Given the description of an element on the screen output the (x, y) to click on. 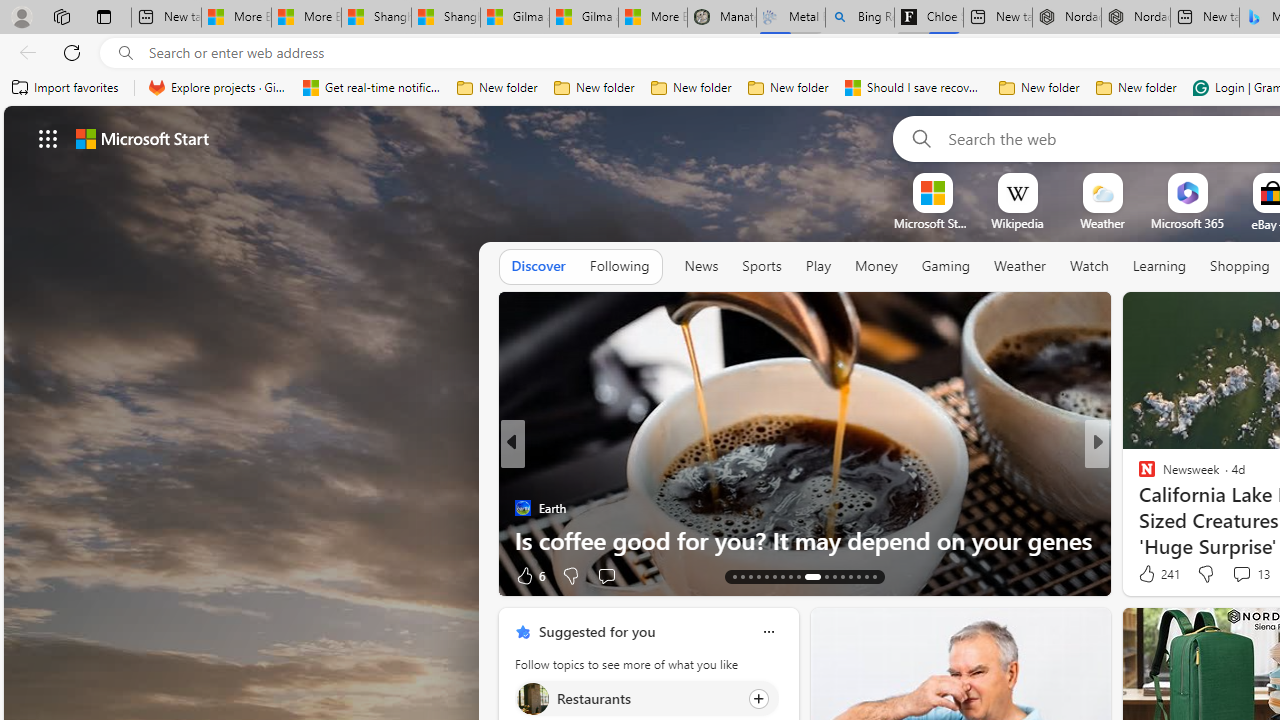
ETNT Mind+Body (1138, 475)
Ad (1142, 575)
Gilma and Hector both pose tropical trouble for Hawaii (584, 17)
AutomationID: tab-20 (789, 576)
Money (876, 267)
Play (818, 267)
Start the conversation (1229, 575)
Following (619, 267)
View comments 22 Comment (1234, 575)
Sports (761, 265)
Microsoft 365 (1186, 223)
USA TODAY College Sports Wire (1138, 475)
15 Like (1149, 574)
AutomationID: tab-14 (742, 576)
AutomationID: tab-18 (774, 576)
